Given the description of an element on the screen output the (x, y) to click on. 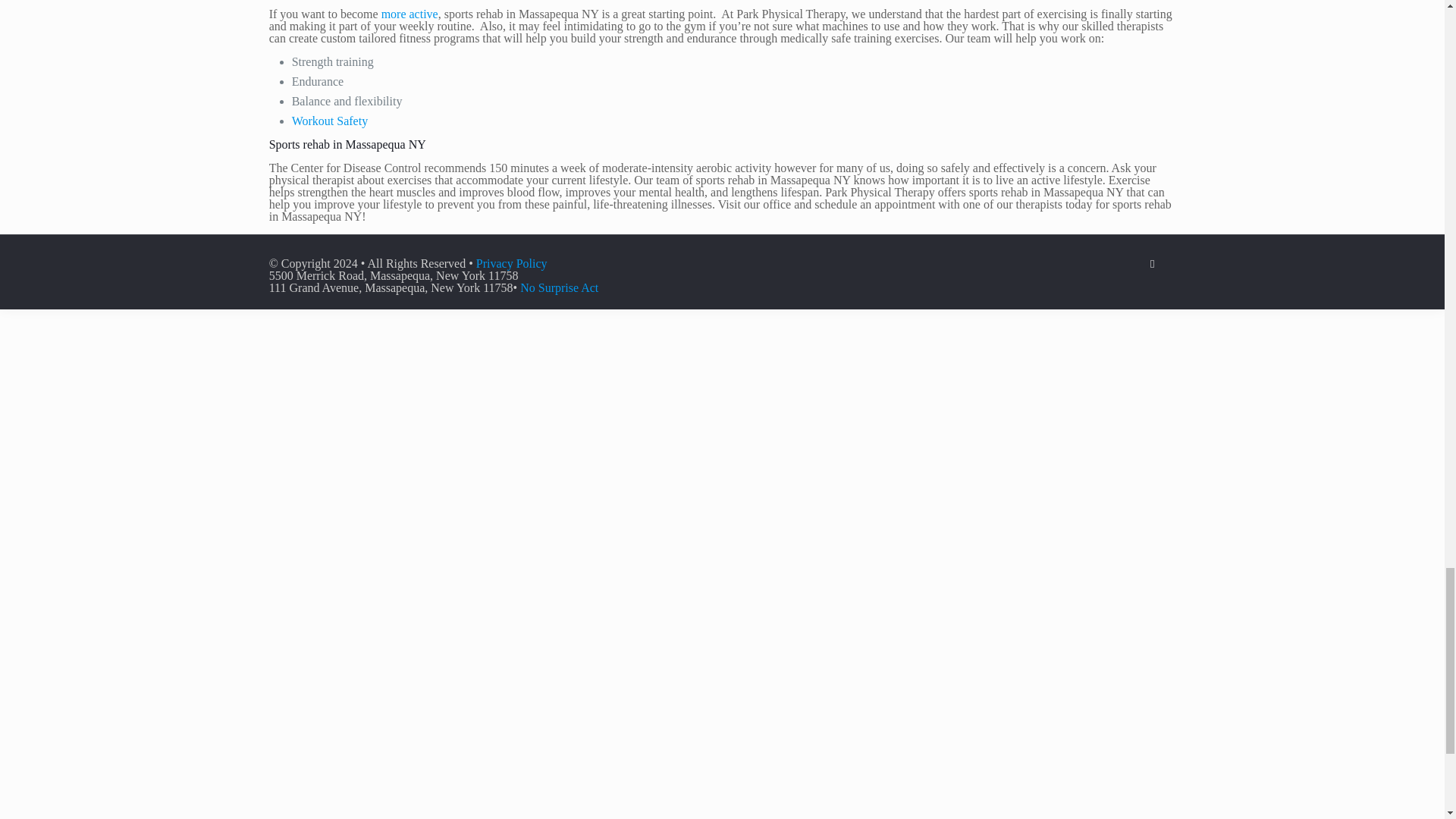
Facebook (1152, 263)
